Given the description of an element on the screen output the (x, y) to click on. 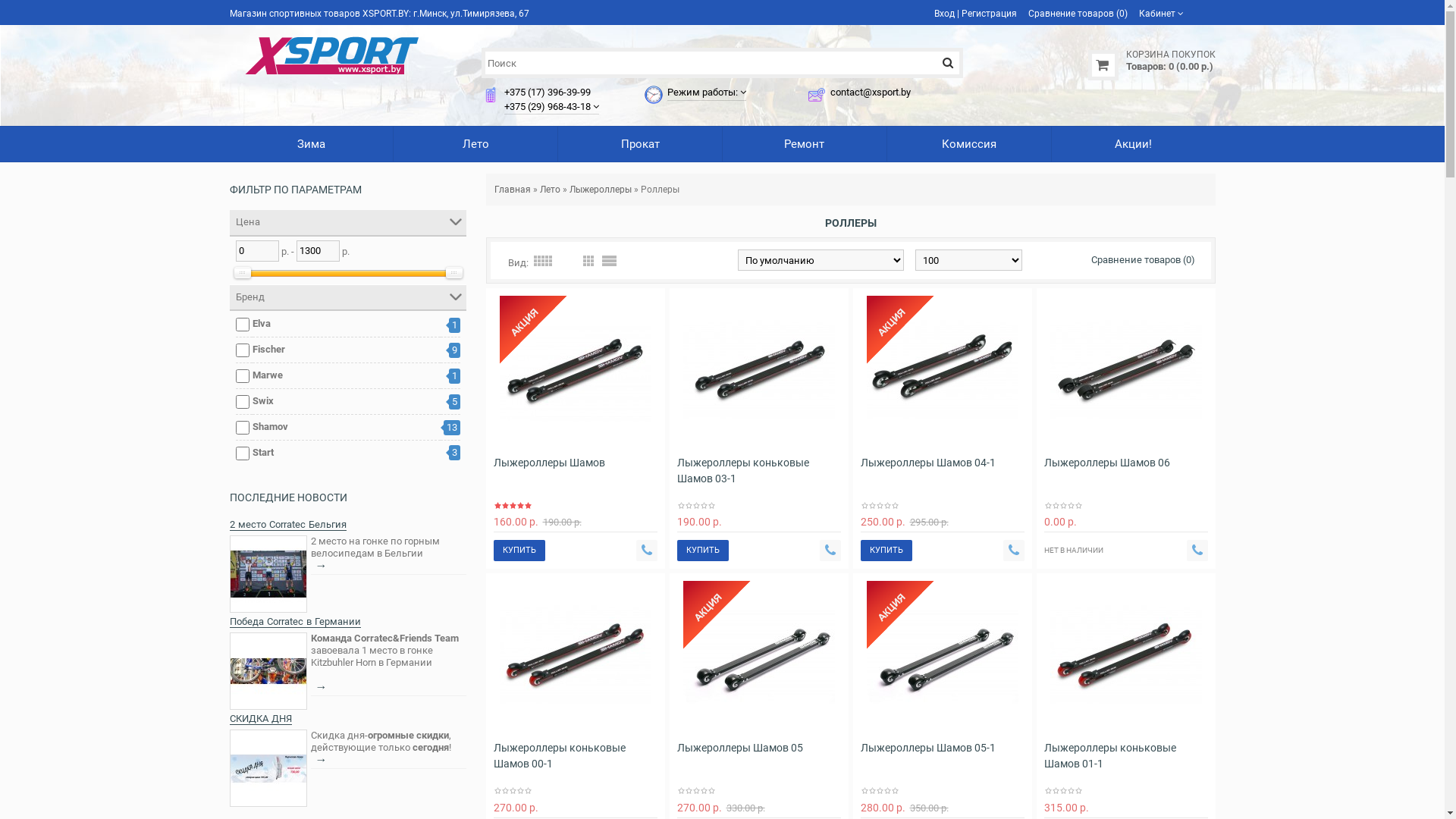
view3 Element type: hover (587, 260)
contact@xsport.by Element type: text (870, 91)
view1 Element type: hover (609, 260)
+375 (17) 396-39-99 Element type: text (547, 91)
+375 (29) 968-43-18 Element type: text (547, 106)
view4 Element type: hover (566, 260)
view5 Element type: hover (542, 260)
